Given the description of an element on the screen output the (x, y) to click on. 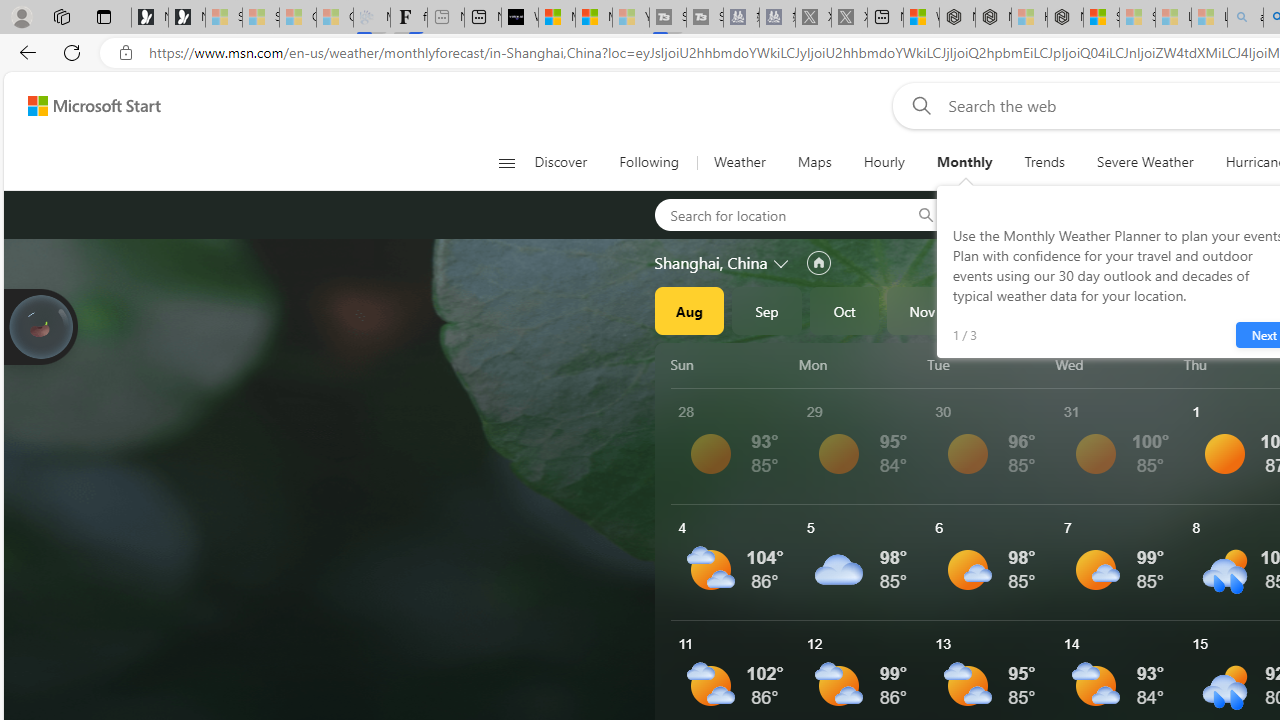
Feb (1155, 310)
Class: button-glyph (505, 162)
Oct (844, 310)
Monthly (964, 162)
Skip to footer (82, 105)
Wed (1115, 363)
Remove location (1149, 214)
Nov (922, 310)
